Given the description of an element on the screen output the (x, y) to click on. 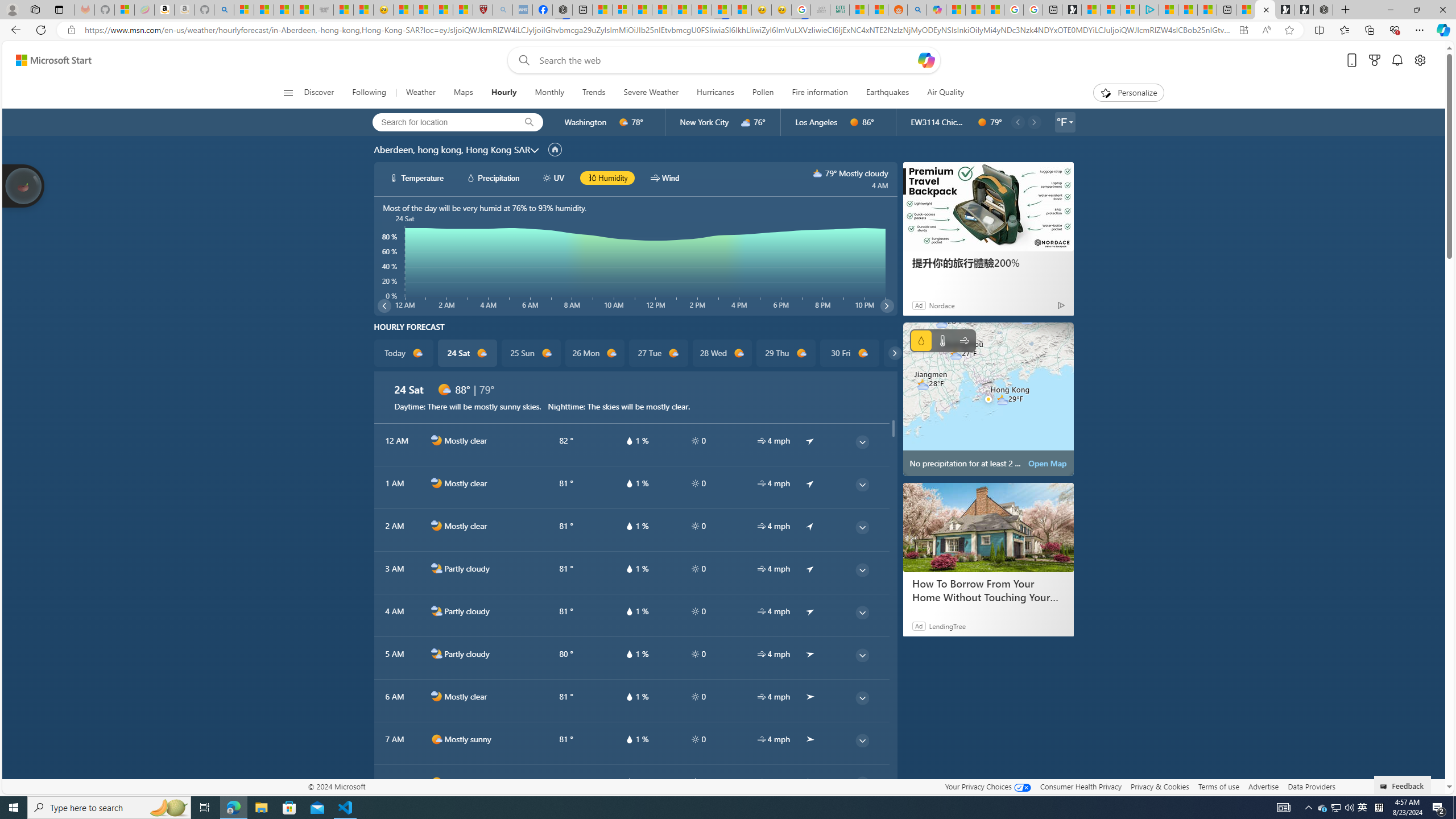
n3000 (817, 172)
Microsoft Copilot in Bing (935, 9)
n2000 (436, 654)
Class: miniMapRadarSVGView-DS-EntryPoint1-1 (988, 398)
hourlyTable/drop (628, 782)
No precipitation for at least 2 hours (988, 398)
common/thinArrow (861, 783)
hourlyChart/uvWhite (546, 177)
hourlyTable/uv (694, 782)
